Given the description of an element on the screen output the (x, y) to click on. 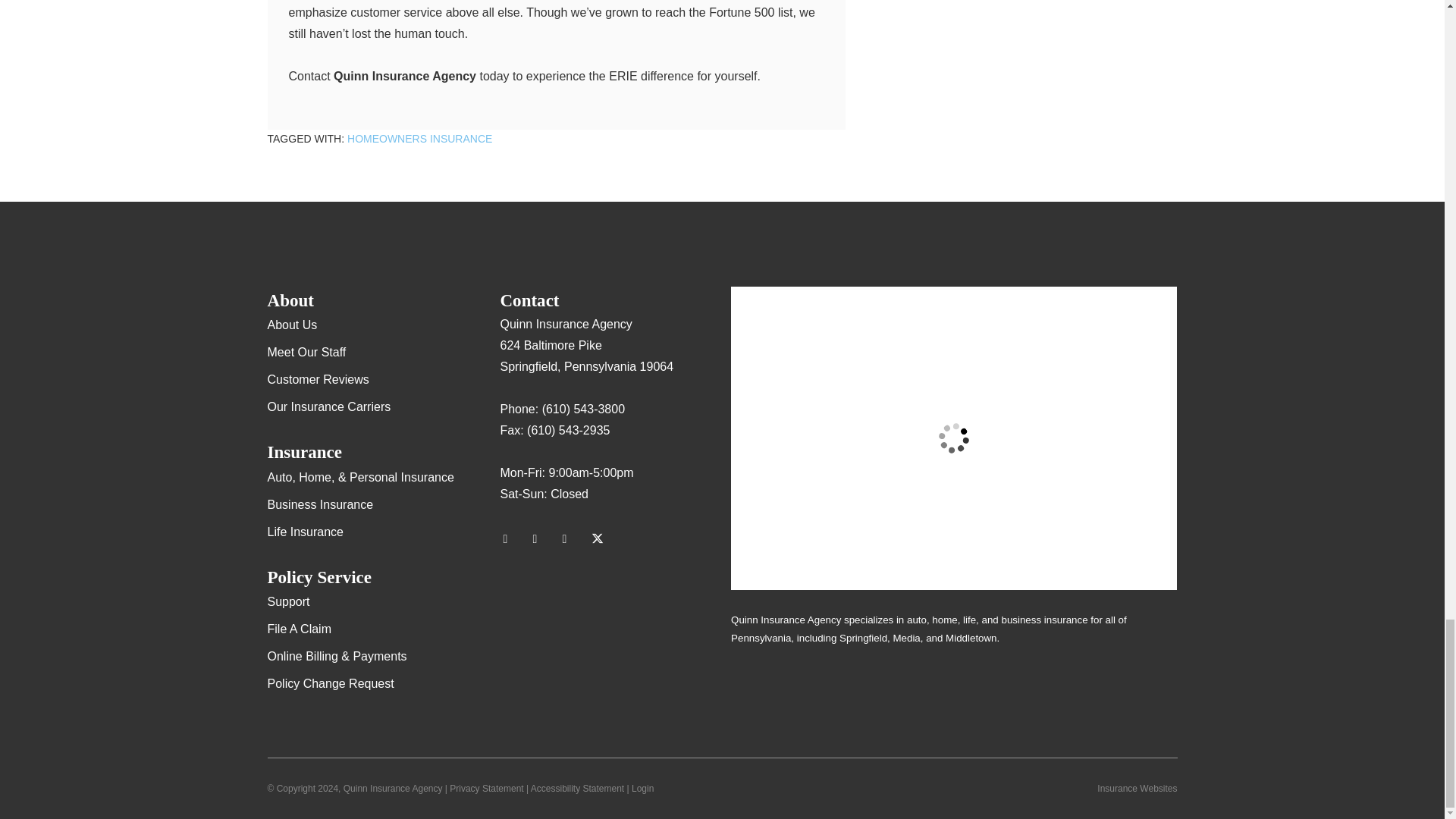
Homeowners Insurance (419, 138)
X (600, 539)
Yelp (541, 539)
Google Maps (511, 539)
Facebook (571, 539)
